Given the description of an element on the screen output the (x, y) to click on. 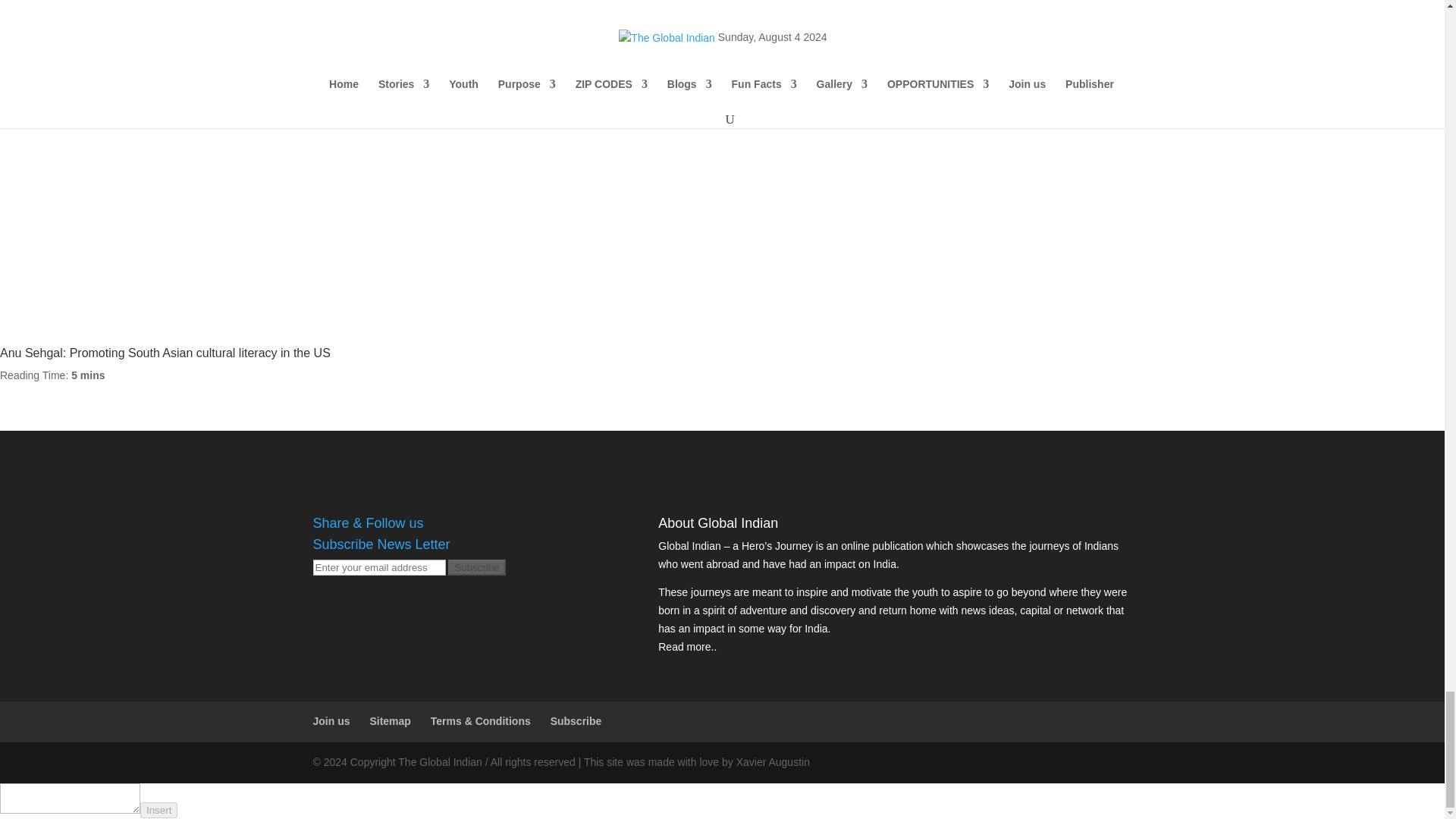
Subscribe (476, 567)
